Given the description of an element on the screen output the (x, y) to click on. 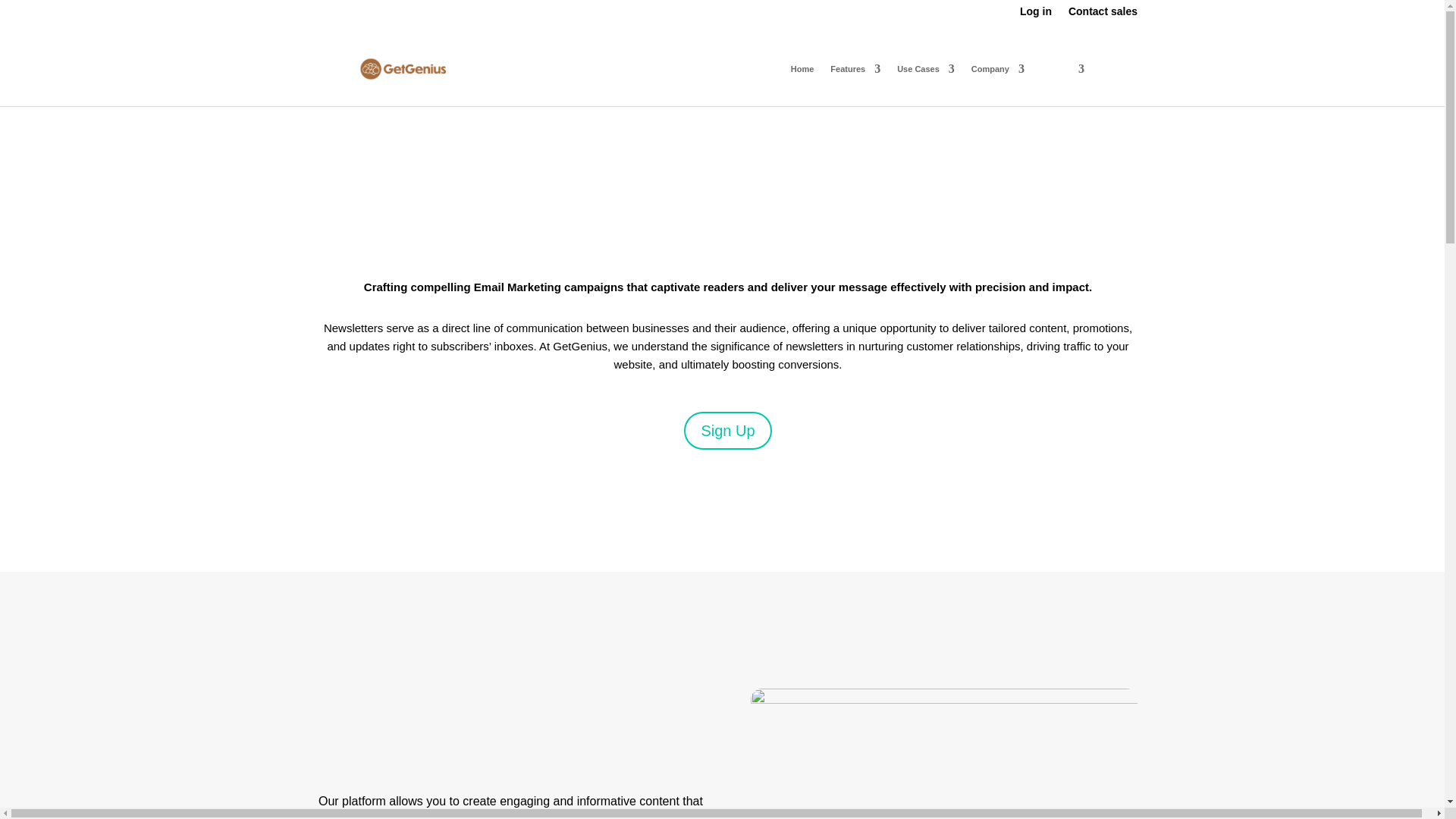
Use Cases (925, 68)
Contact sales (1102, 13)
Log in (1035, 13)
